Given the description of an element on the screen output the (x, y) to click on. 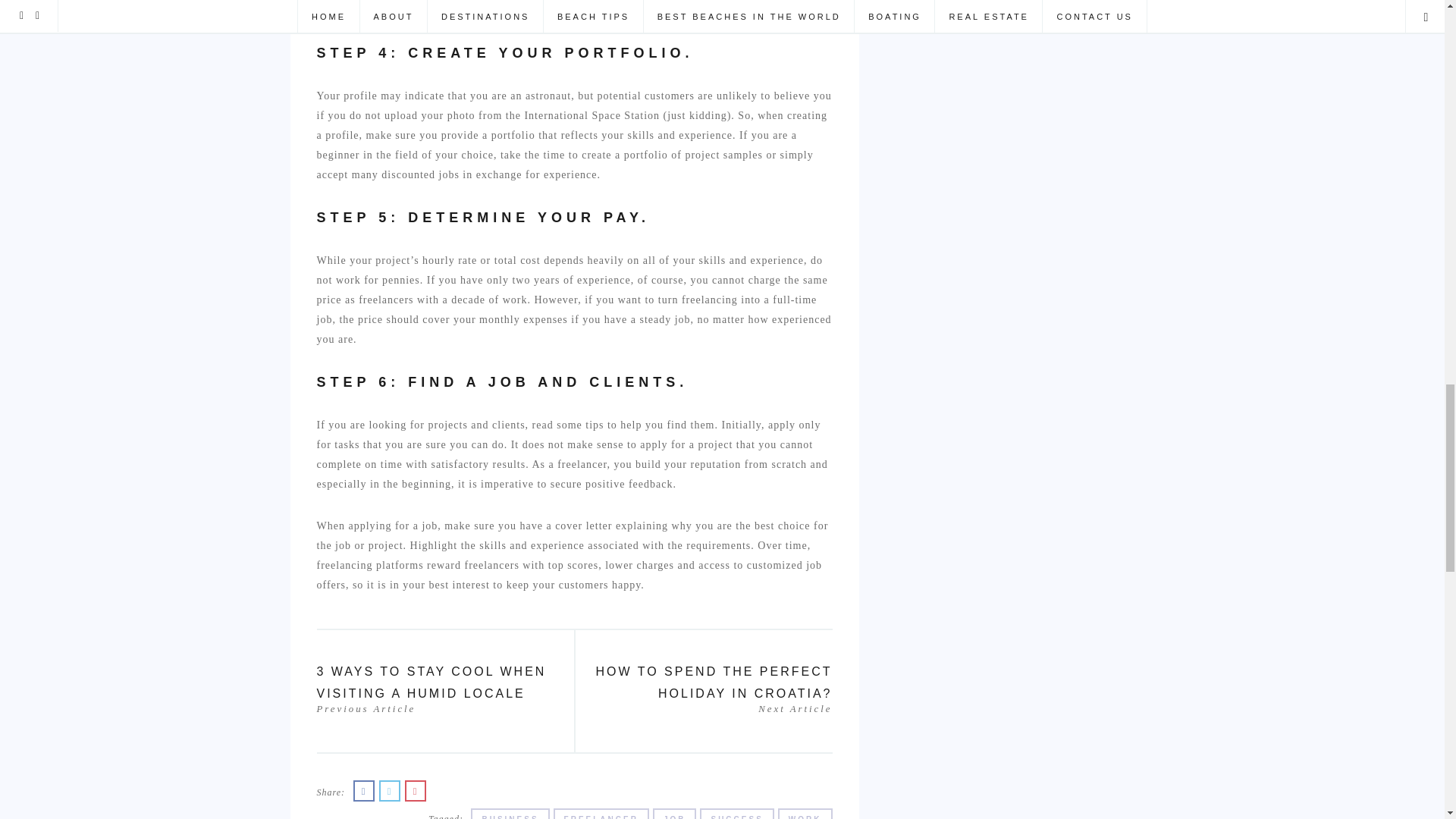
WORK (708, 687)
FREELANCER (804, 813)
JOB (601, 813)
SUCCESS (674, 813)
BUSINESS (736, 813)
